Given the description of an element on the screen output the (x, y) to click on. 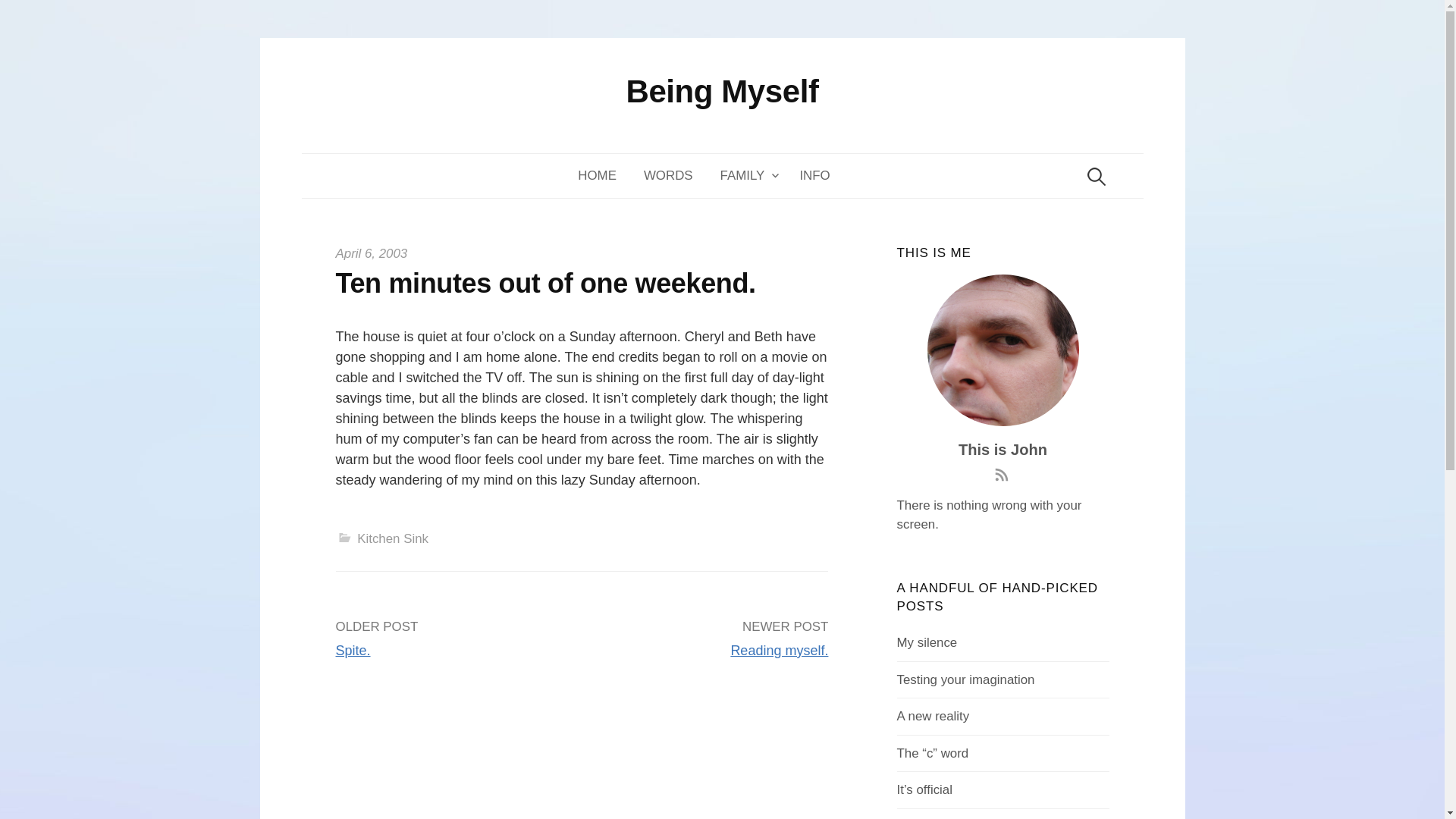
WORDS (668, 175)
Spite. (351, 650)
INFO (814, 175)
Testing your imagination (965, 679)
FAMILY (746, 175)
Search (18, 18)
HOME (604, 175)
A new reality (932, 716)
Reading myself. (779, 650)
April 6, 2003 (370, 253)
Being Myself (722, 90)
My silence (927, 642)
Kitchen Sink (392, 538)
